Given the description of an element on the screen output the (x, y) to click on. 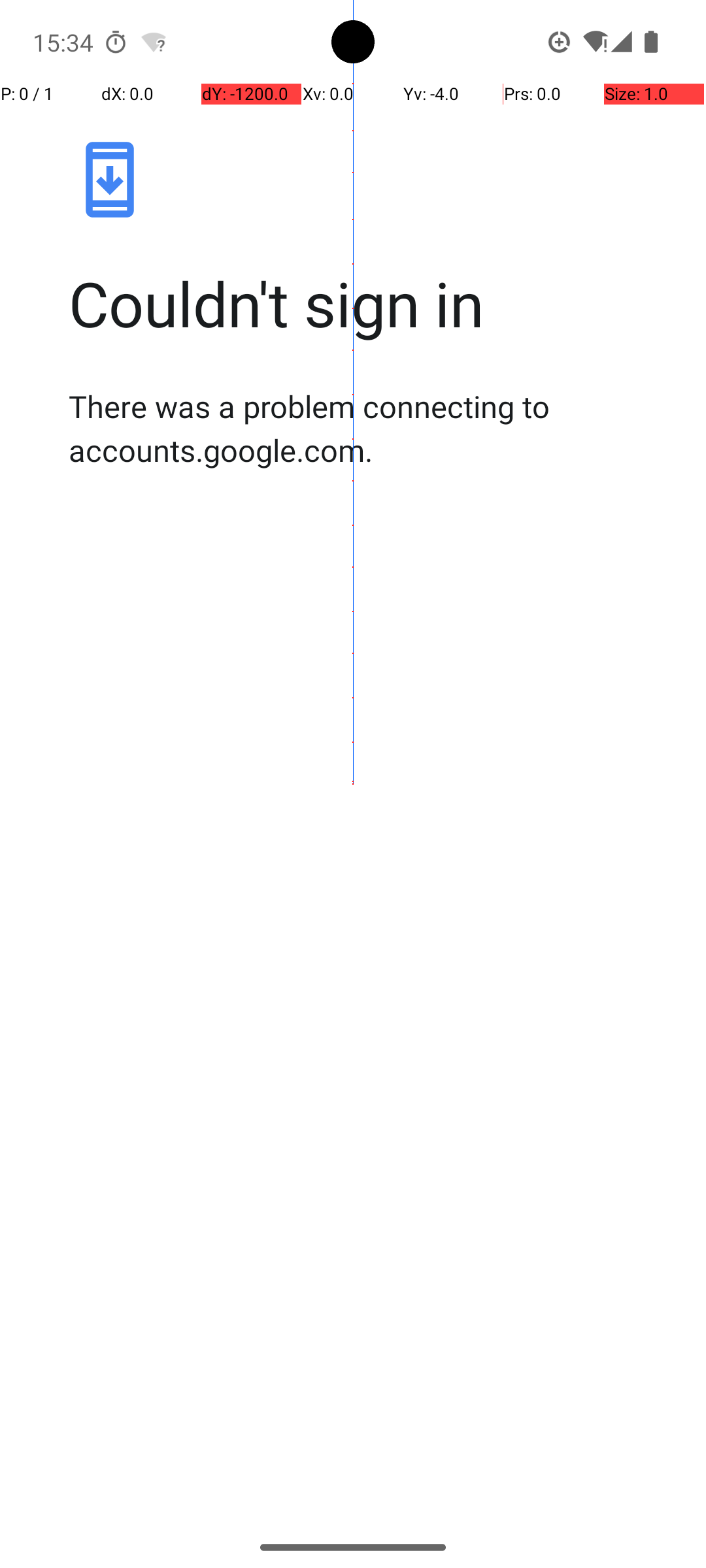
Couldn't sign in Element type: android.widget.TextView (366, 302)
There was a problem connecting to accounts.google.com. Element type: android.widget.TextView (366, 427)
